Given the description of an element on the screen output the (x, y) to click on. 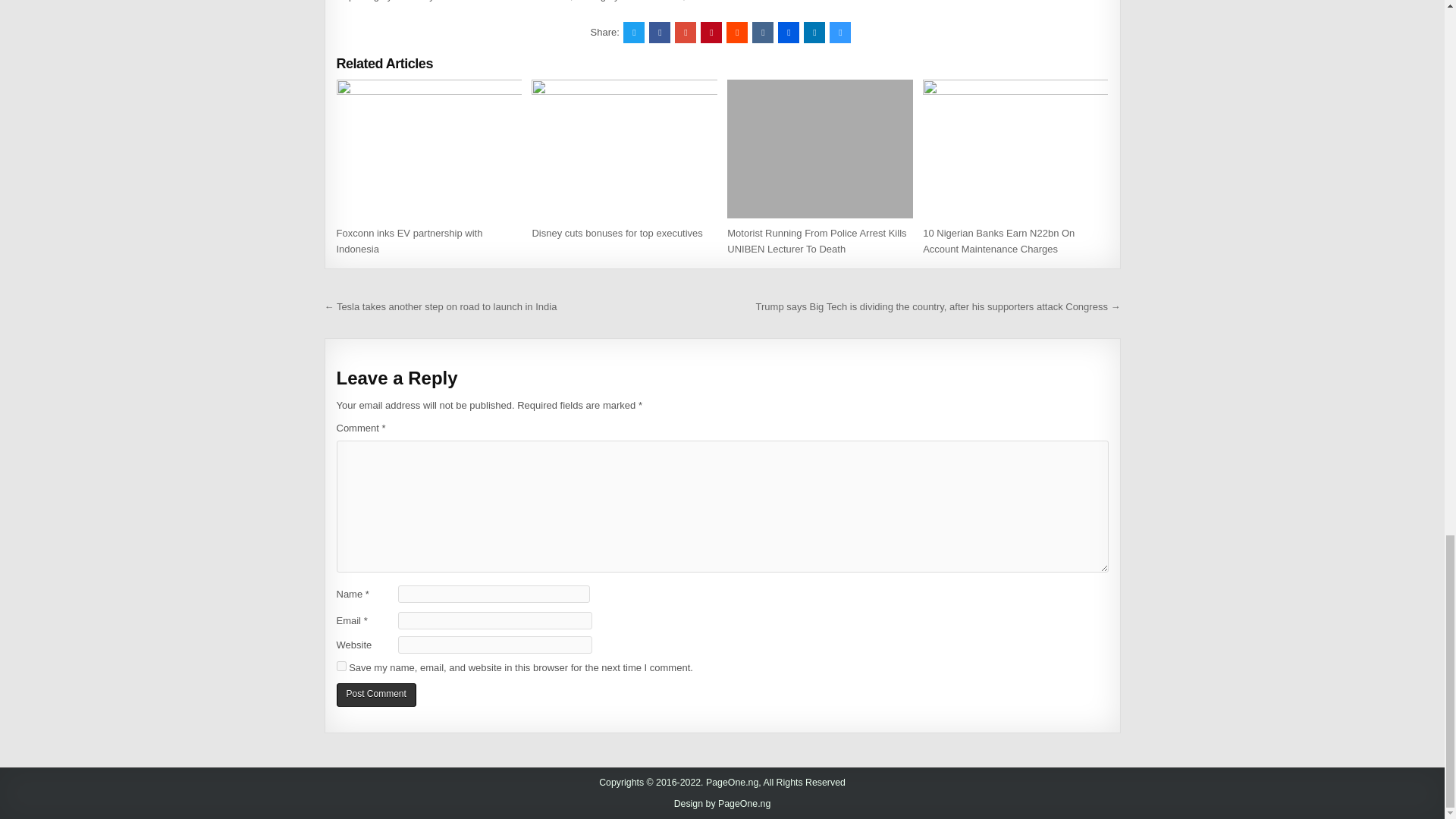
yes (341, 665)
Post Comment (376, 694)
Disney cuts bonuses for top executives (616, 233)
Foxconn inks EV partnership with Indonesia (409, 240)
Tweet This! (634, 32)
